Given the description of an element on the screen output the (x, y) to click on. 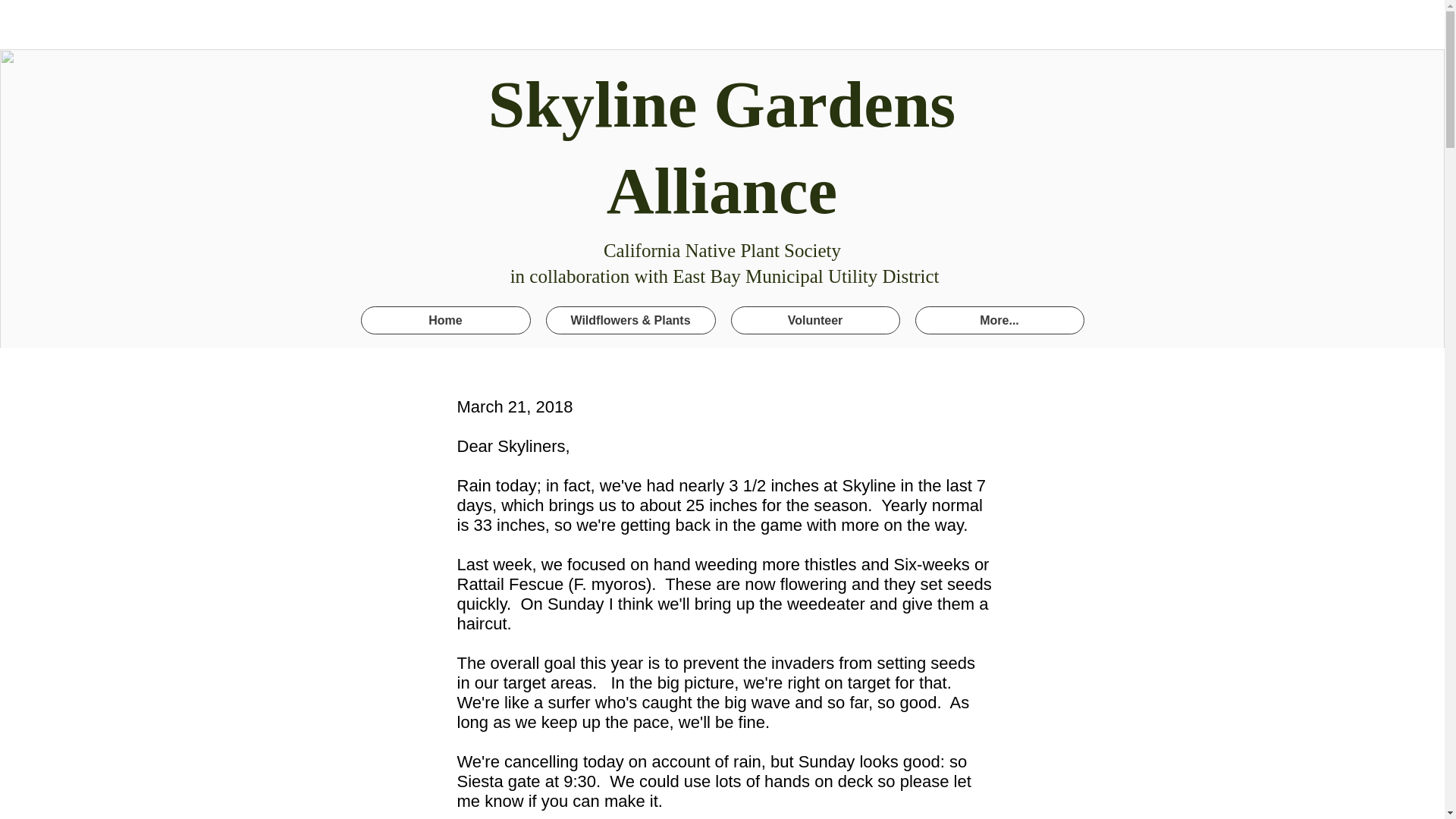
Home (446, 320)
Volunteer (814, 320)
Skyline Gardens Alliance (721, 147)
